Given the description of an element on the screen output the (x, y) to click on. 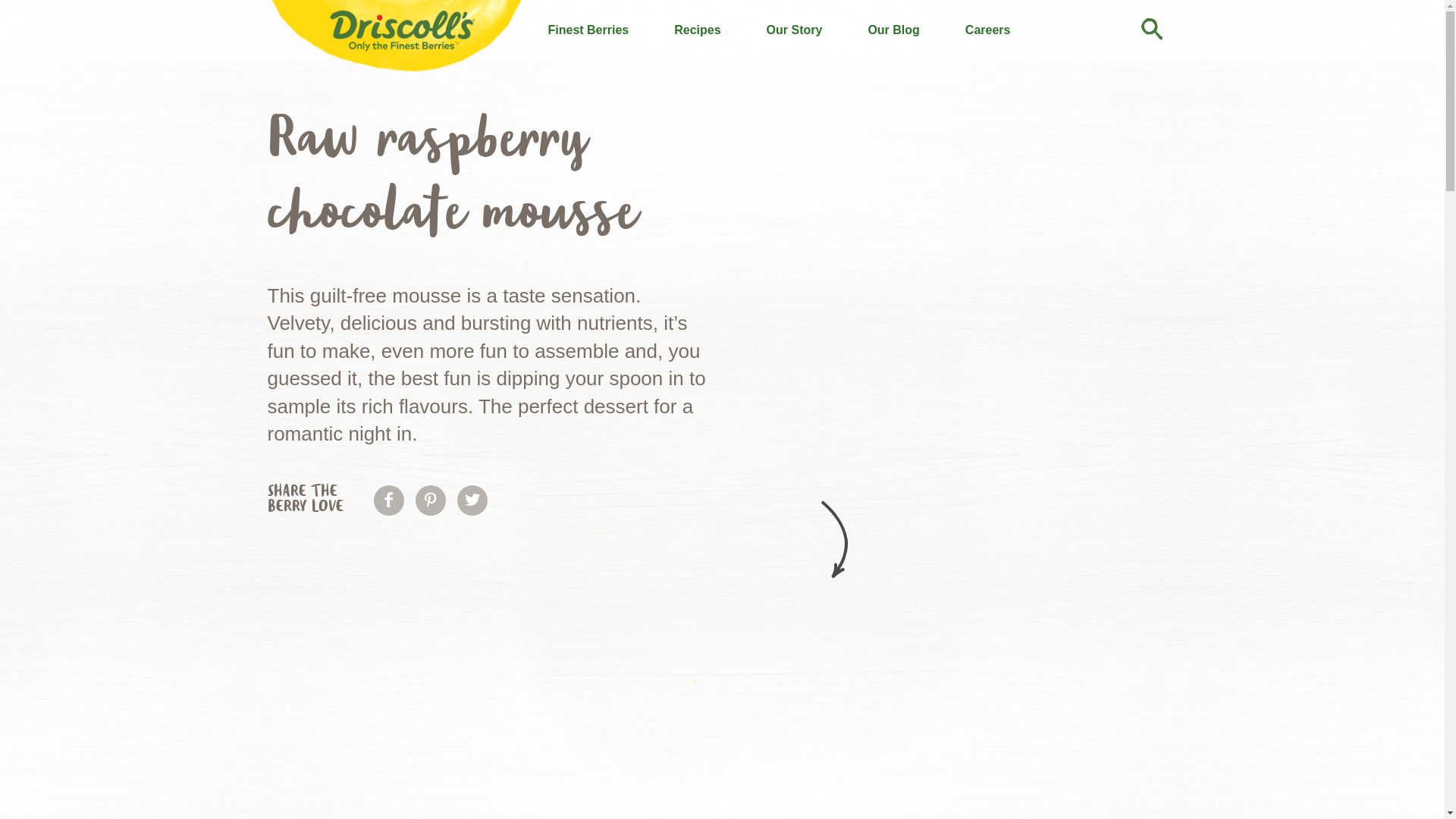
Share Driscolls on Twitter Element type: text (471, 500)
Finest Berries Element type: text (587, 29)
Recipes Element type: text (697, 29)
Share Driscolls on Facebook Element type: text (388, 500)
Our Story Element type: text (794, 29)
Our Blog Element type: text (892, 29)
Share Driscolls on Pinterest Element type: text (430, 500)
Careers Element type: text (987, 29)
